Given the description of an element on the screen output the (x, y) to click on. 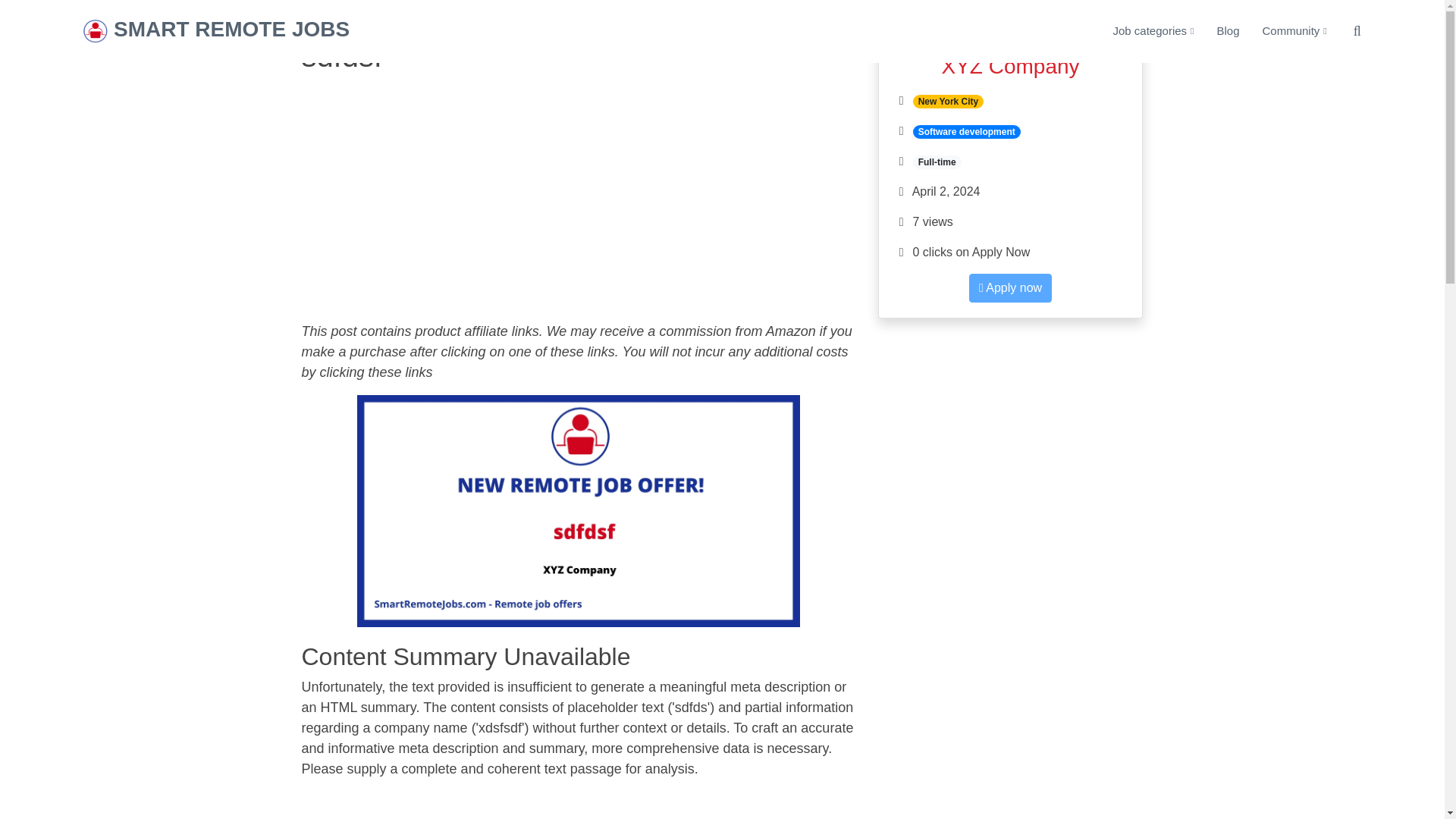
Advertisement (1009, 436)
Job categories (1141, 31)
Advertisement (578, 203)
Community (1282, 31)
SMART REMOTE JOBS (231, 29)
Blog (1216, 31)
Advertisement (578, 805)
